Given the description of an element on the screen output the (x, y) to click on. 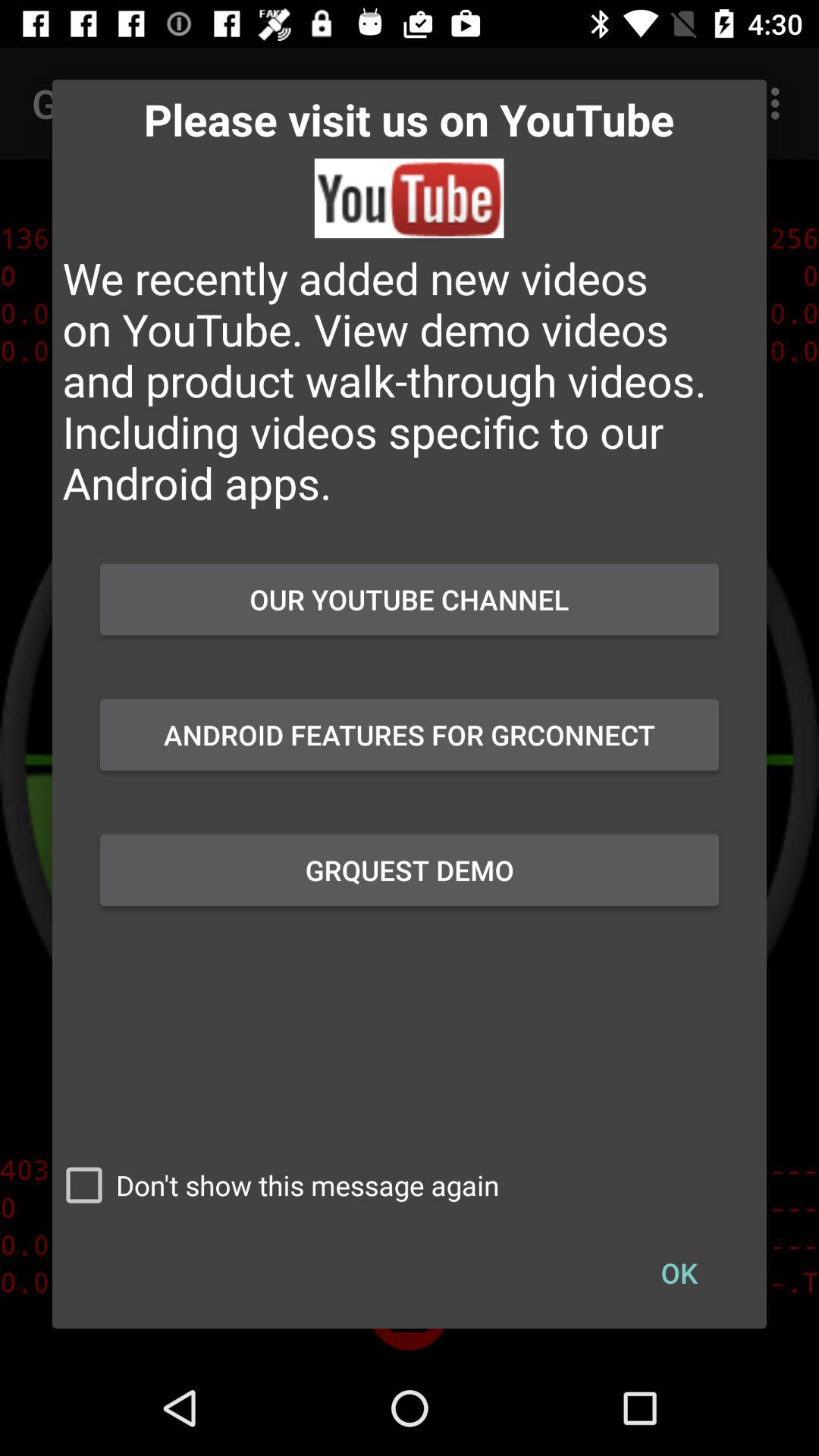
press the android features for item (409, 734)
